Given the description of an element on the screen output the (x, y) to click on. 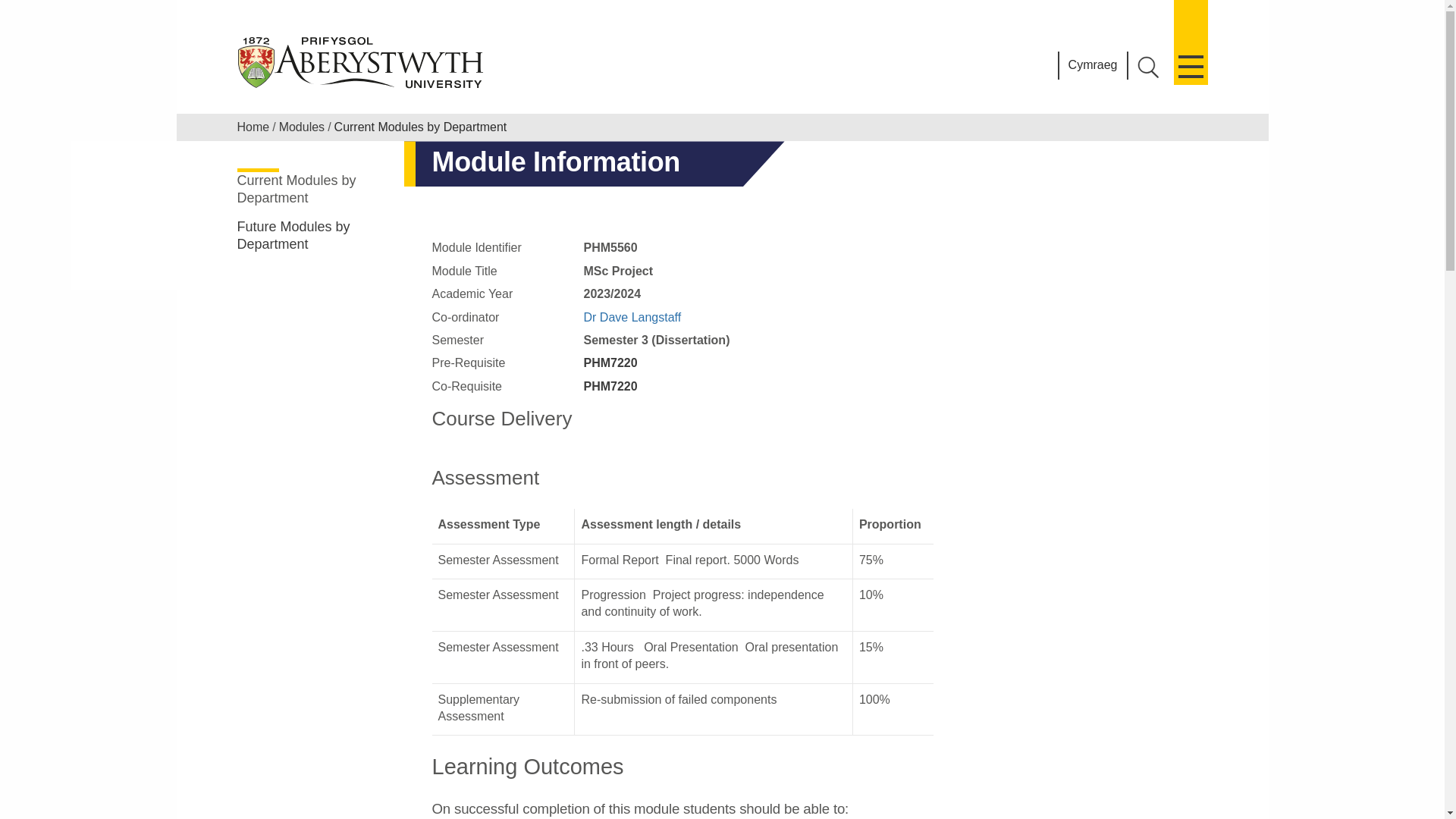
Search (1147, 66)
Aberystwyth University homepage (360, 62)
Newid iaith i Gymraeg (1093, 65)
